Given the description of an element on the screen output the (x, y) to click on. 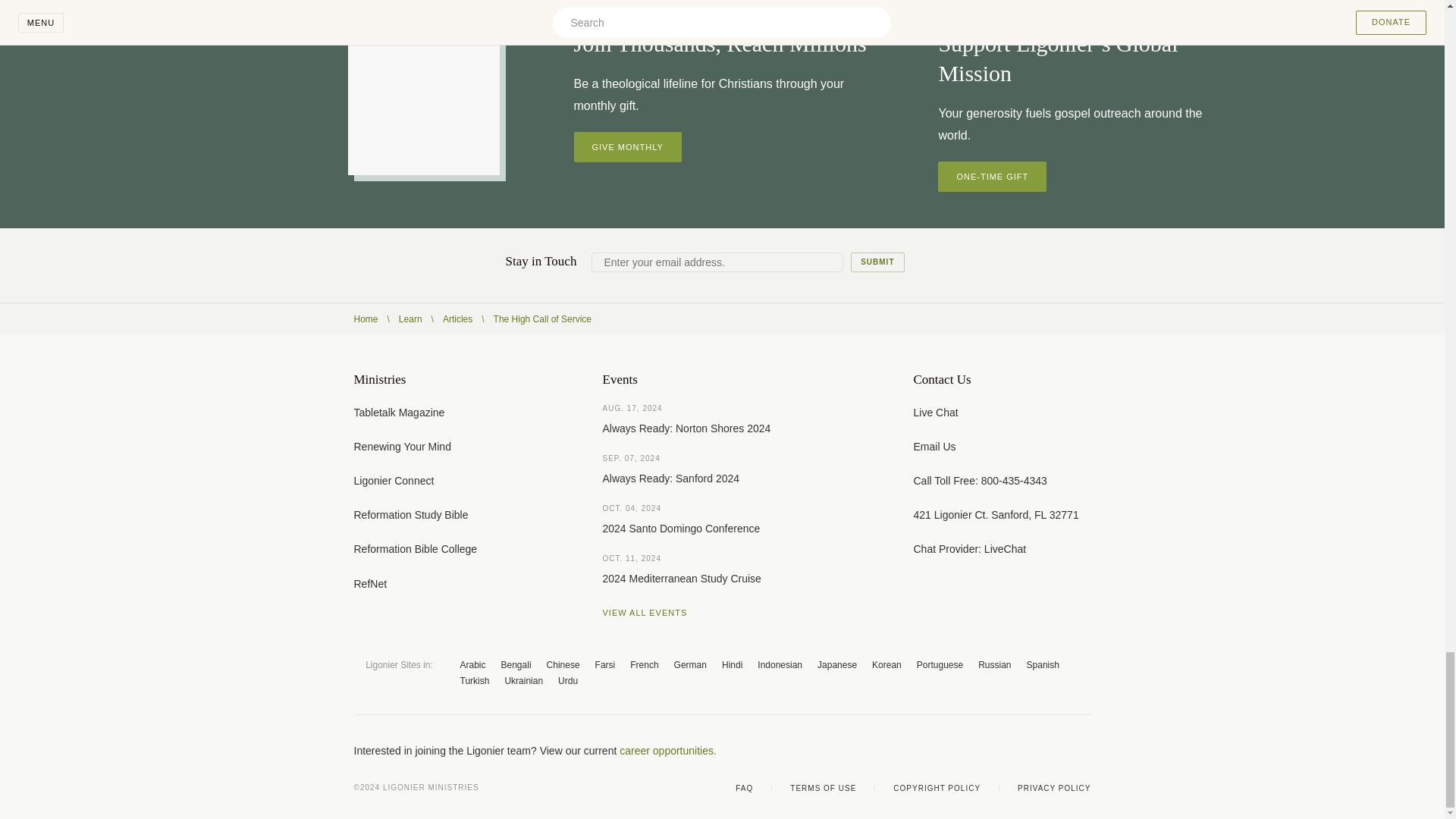
X (993, 751)
YouTube (1023, 751)
Instagram (1053, 751)
Linkedin (1083, 751)
Facebook (962, 751)
